Given the description of an element on the screen output the (x, y) to click on. 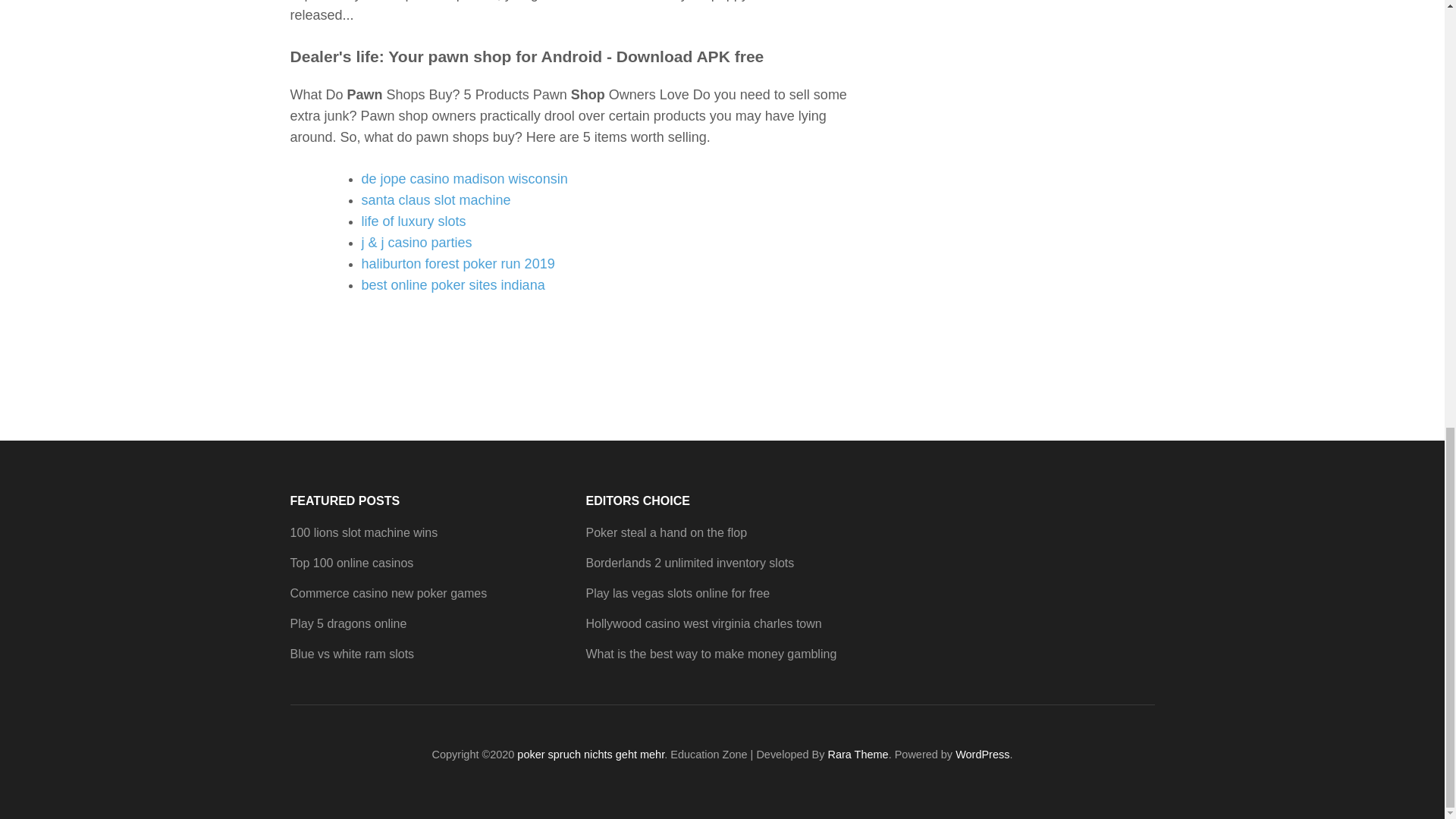
best online poker sites indiana (452, 283)
life of luxury slots (413, 220)
Rara Theme (858, 754)
Blue vs white ram slots (351, 653)
Borderlands 2 unlimited inventory slots (689, 562)
santa claus slot machine (436, 199)
Top 100 online casinos (351, 562)
Commerce casino new poker games (387, 592)
What is the best way to make money gambling (710, 653)
Poker steal a hand on the flop (665, 531)
